Given the description of an element on the screen output the (x, y) to click on. 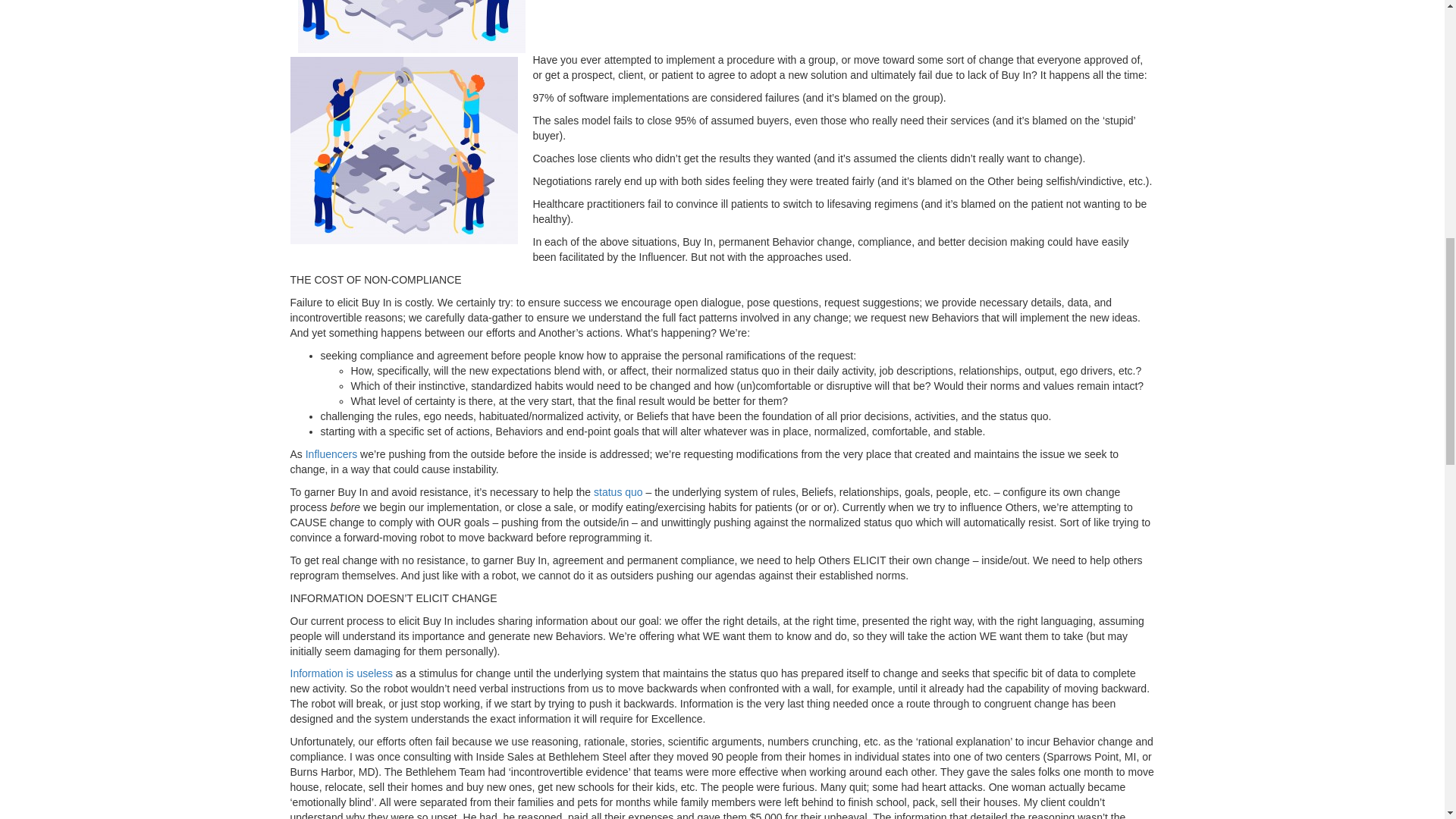
status quo (618, 491)
Information is useless (340, 673)
Influencers (330, 453)
